Given the description of an element on the screen output the (x, y) to click on. 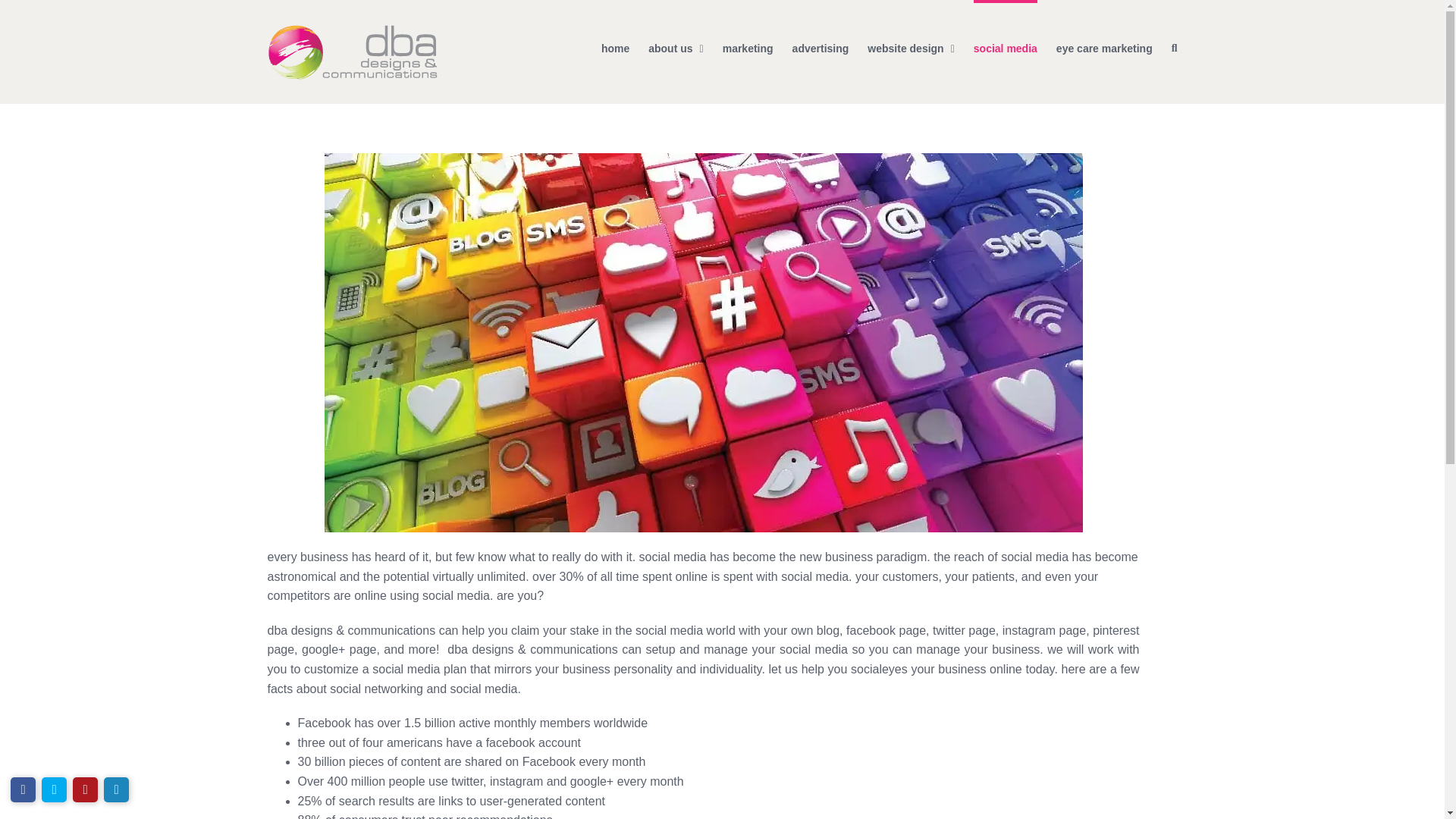
website design (910, 47)
eye care marketing (1105, 47)
